Given the description of an element on the screen output the (x, y) to click on. 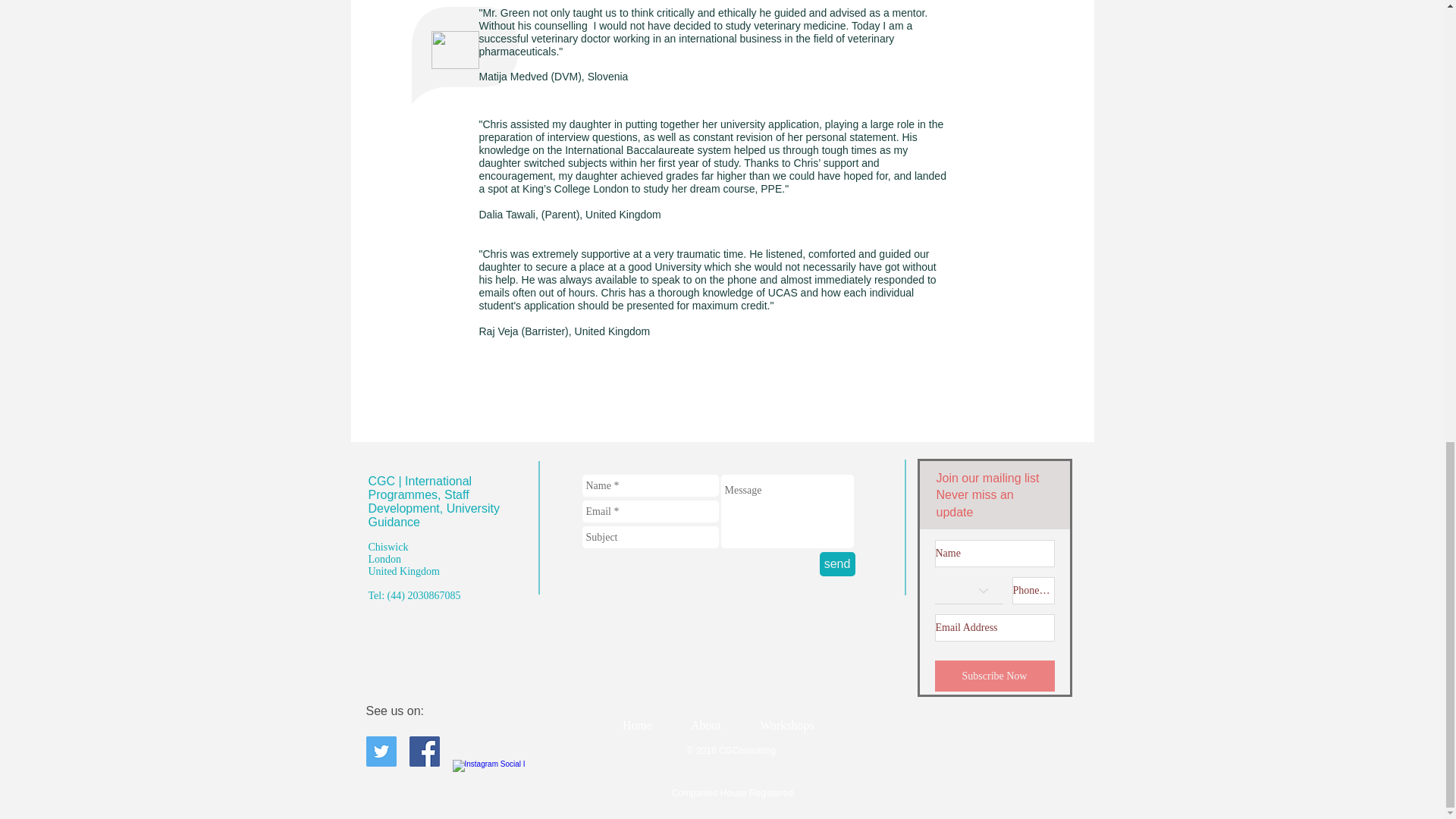
Subscribe Now (994, 675)
About (706, 725)
Workshops (785, 725)
Home (637, 725)
send (836, 564)
